Given the description of an element on the screen output the (x, y) to click on. 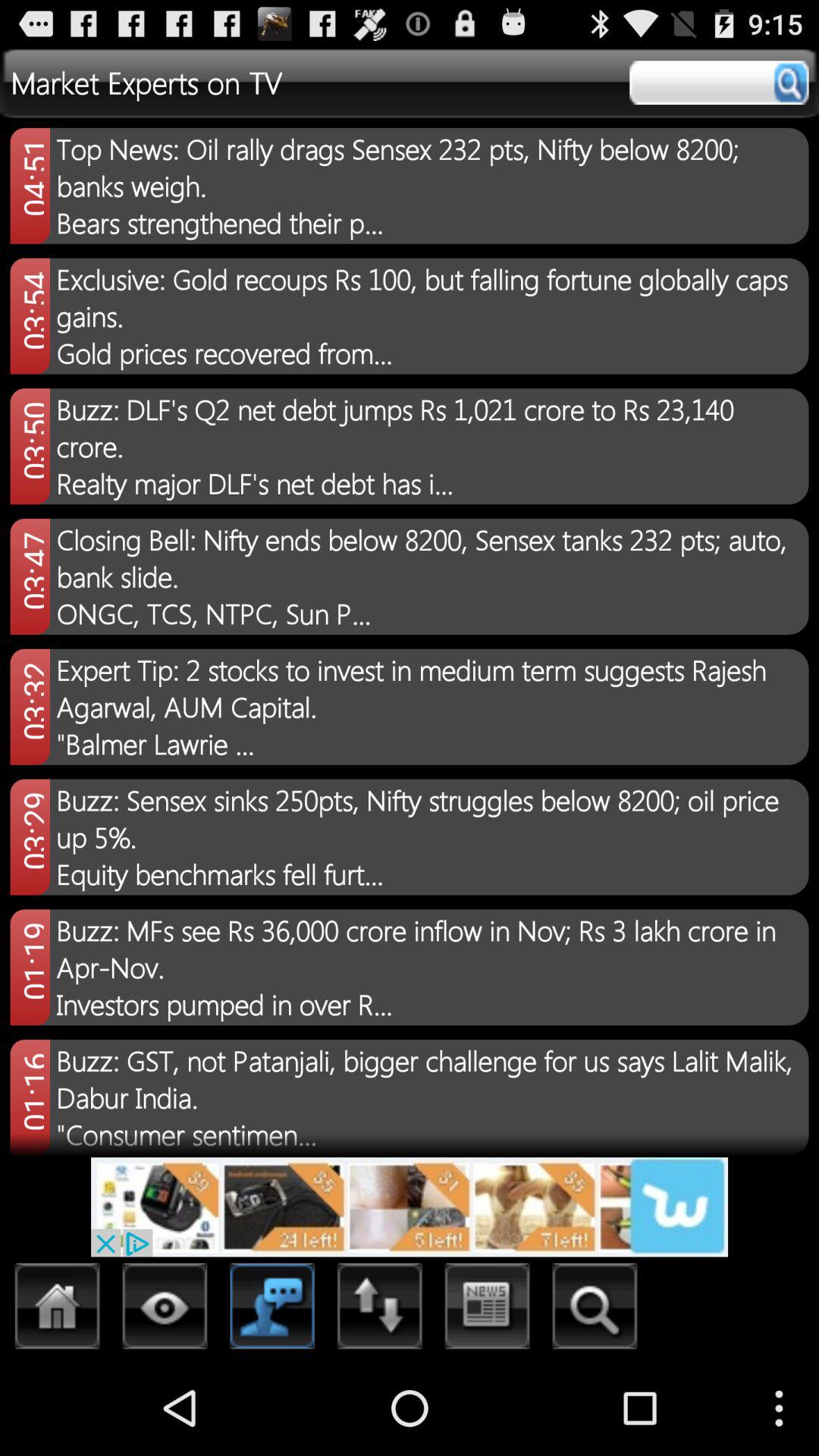
toggle news option (487, 1310)
